Given the description of an element on the screen output the (x, y) to click on. 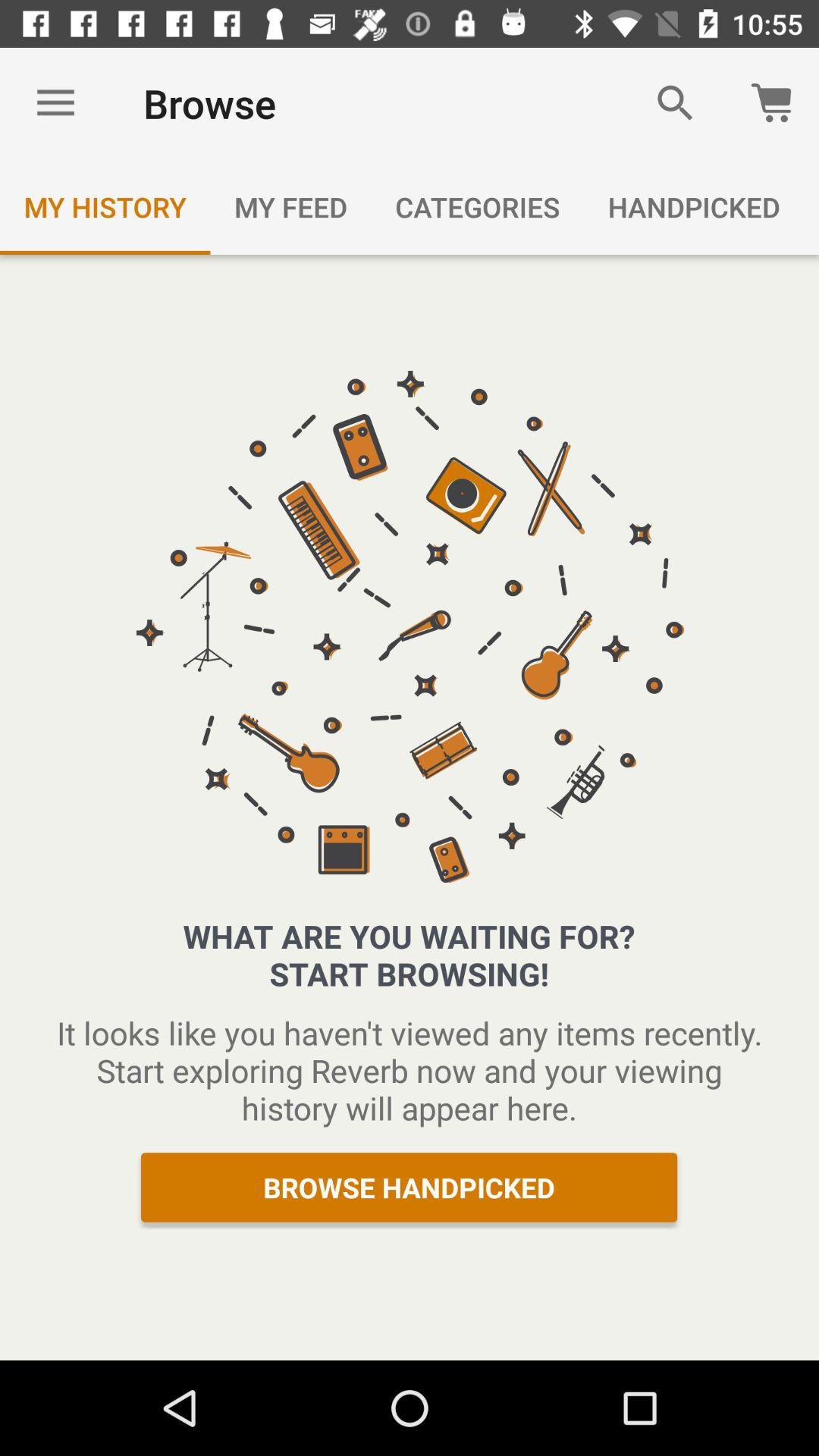
select the text categories (477, 206)
click the search button on the web page (675, 103)
